Given the description of an element on the screen output the (x, y) to click on. 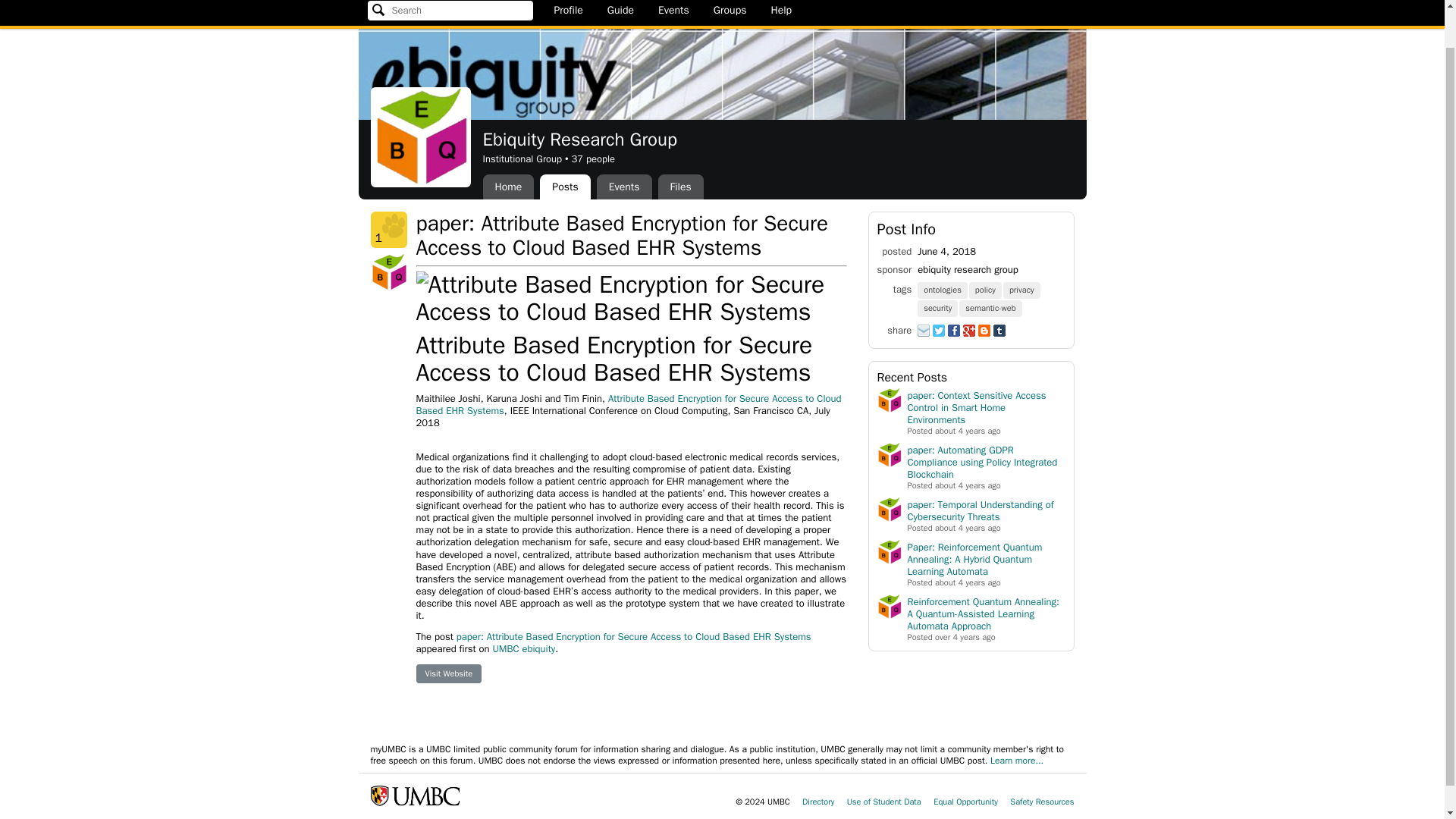
semantic-web (991, 307)
Files (680, 186)
security (938, 307)
Groups (729, 11)
1 (387, 229)
Profile (567, 11)
Home (507, 186)
Help (780, 11)
Guide (620, 11)
Events (673, 11)
ontologies (943, 288)
policy (986, 288)
Posts (564, 186)
37 people (592, 158)
